Given the description of an element on the screen output the (x, y) to click on. 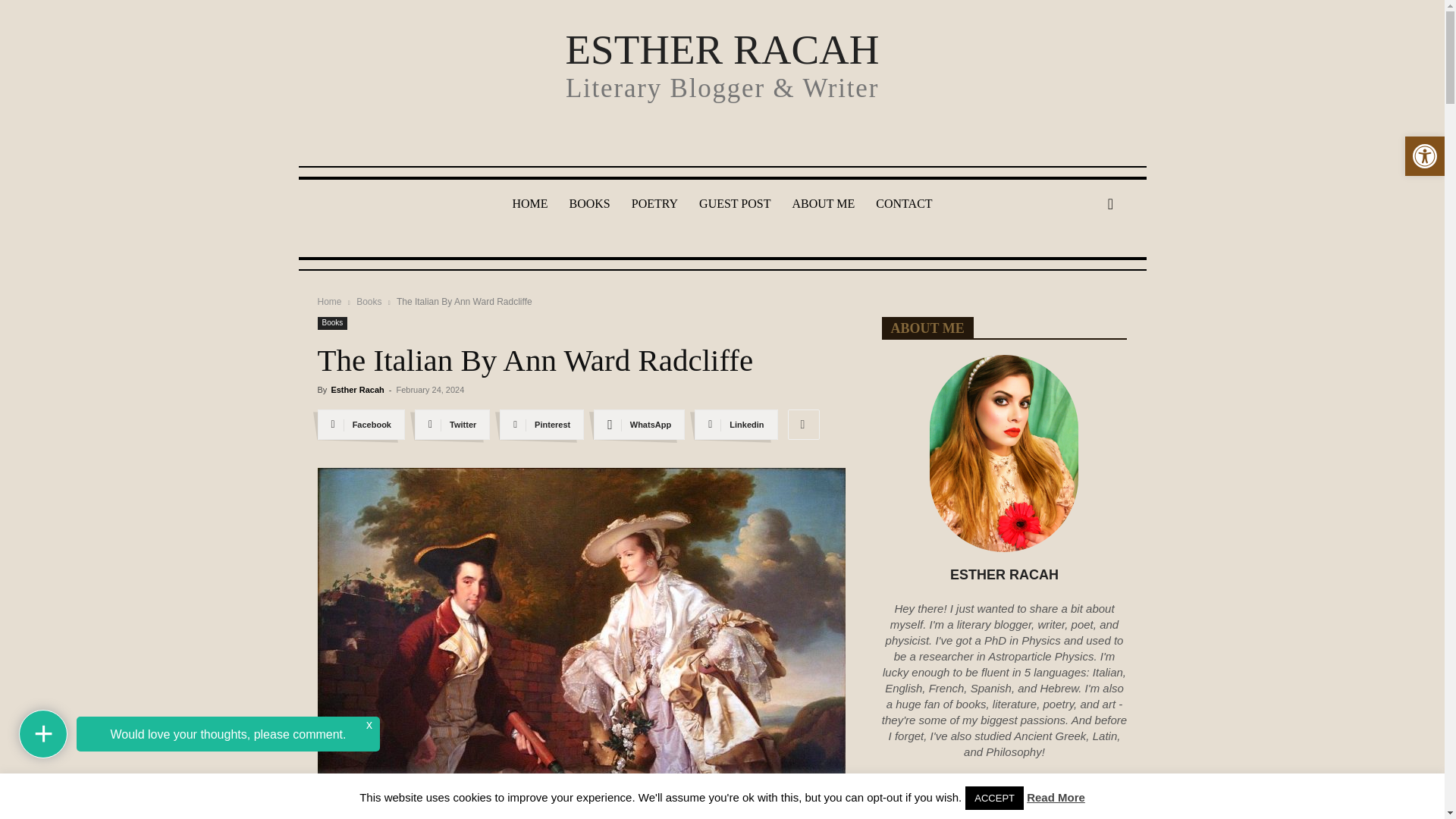
Accessibility Tools (1424, 156)
BOOKS (588, 203)
CONTACT (903, 203)
Home (328, 300)
Books (368, 300)
Linkedin (735, 424)
Pinterest (541, 424)
Books (332, 323)
Facebook (360, 424)
GUEST POST (734, 203)
POETRY (654, 203)
Twitter (451, 424)
Pinterest (541, 424)
HOME (528, 203)
Twitter (451, 424)
